Given the description of an element on the screen output the (x, y) to click on. 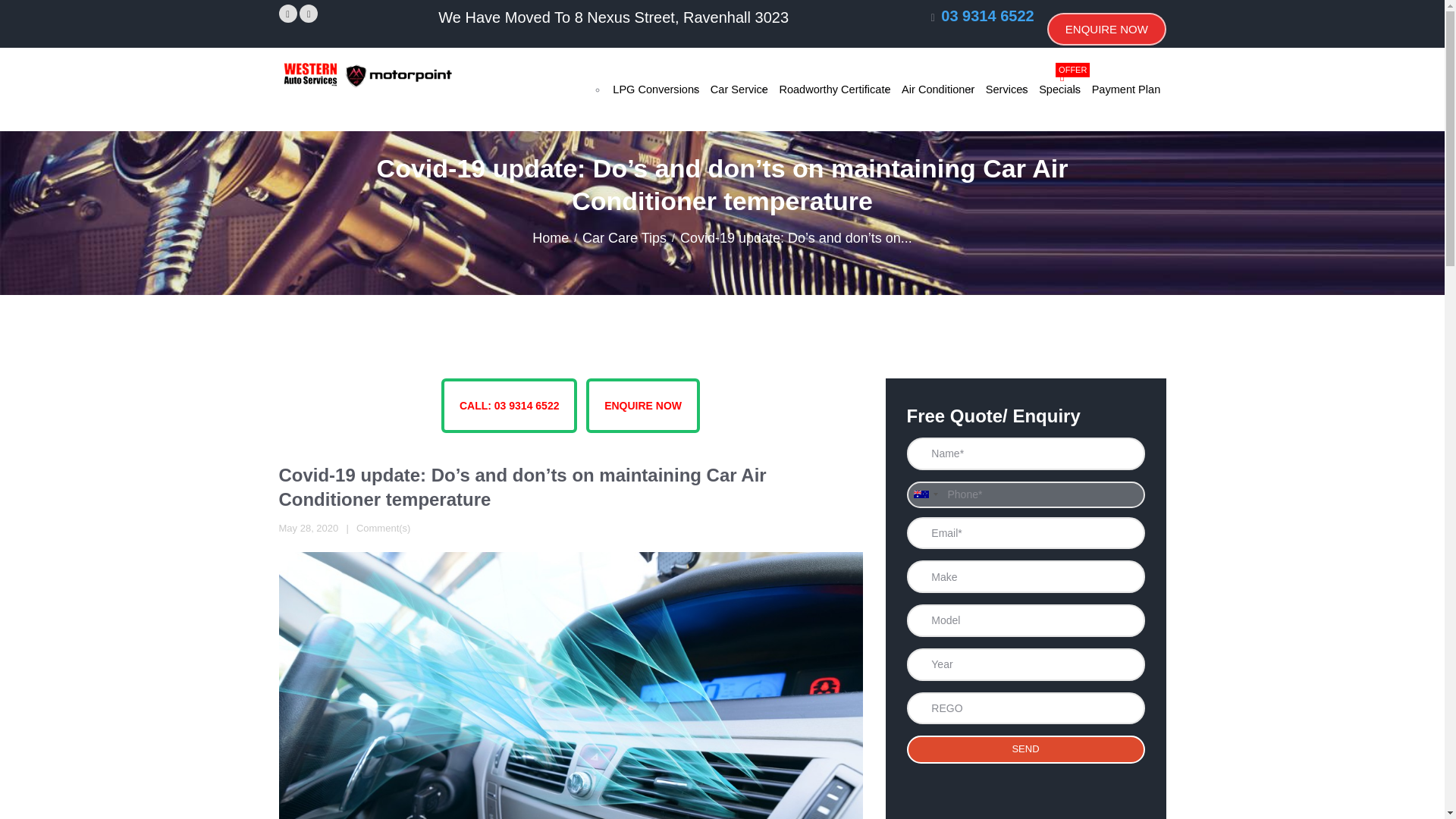
03 9314 6522 (986, 15)
Roadworthy Certificate (834, 89)
Payment Plan (1126, 89)
Car Service (739, 89)
Services (1059, 89)
Air Conditioner (1006, 89)
Car Care Tips (937, 89)
LPG Conversions (624, 238)
ENQUIRE NOW (655, 89)
Send (1106, 29)
Comments - 0 (1025, 748)
Home (383, 528)
